Given the description of an element on the screen output the (x, y) to click on. 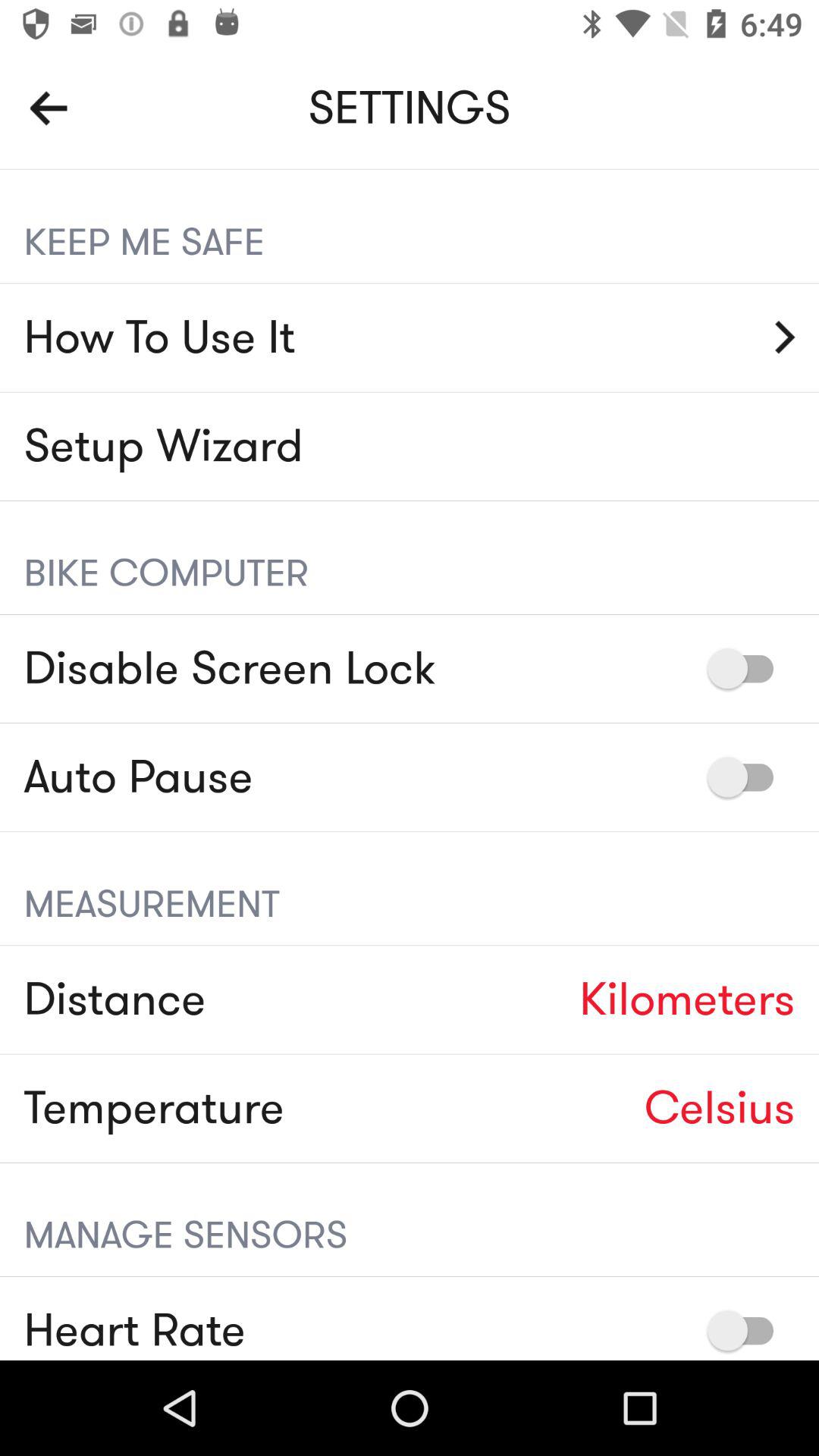
toggle heart rate sensor (747, 1330)
